Given the description of an element on the screen output the (x, y) to click on. 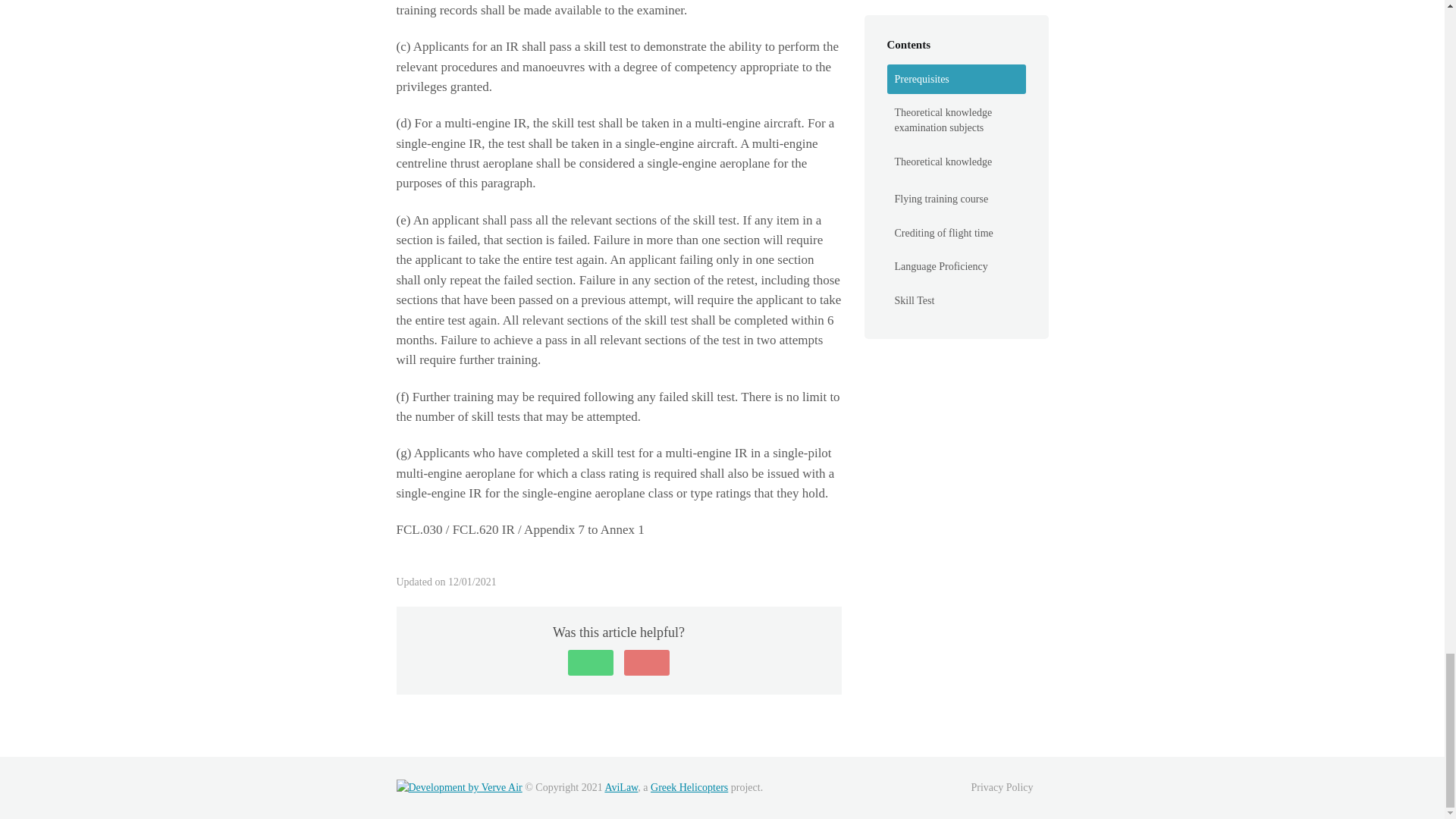
Privacy Policy (1001, 787)
AviLaw (620, 787)
Greek Helicopters (689, 787)
